Given the description of an element on the screen output the (x, y) to click on. 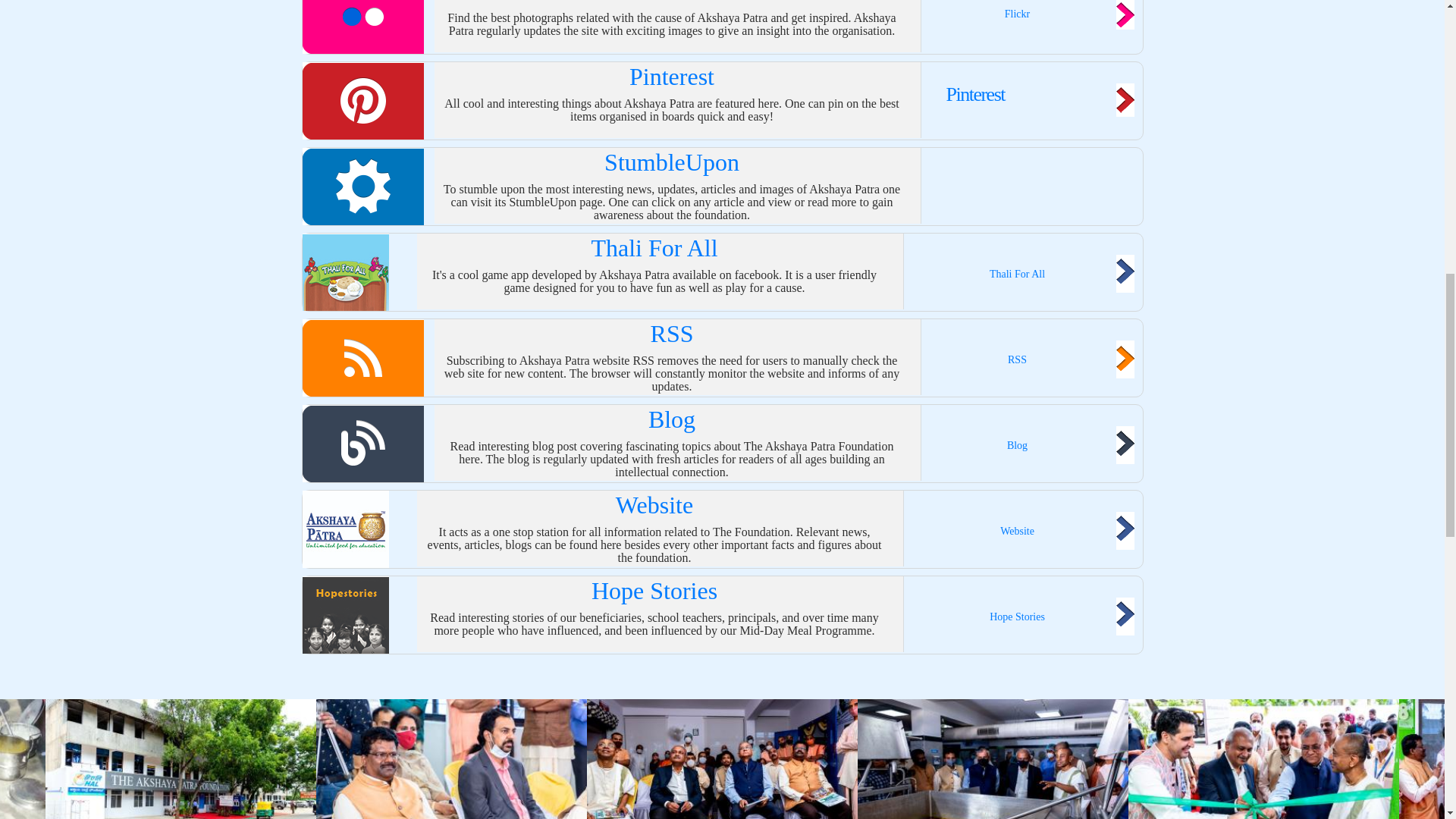
Special guests attend the ceremony (721, 759)
Dignitaries listening to the inauguration speech (450, 759)
Guests take the tour of the kitchen to see its operations (992, 759)
